Given the description of an element on the screen output the (x, y) to click on. 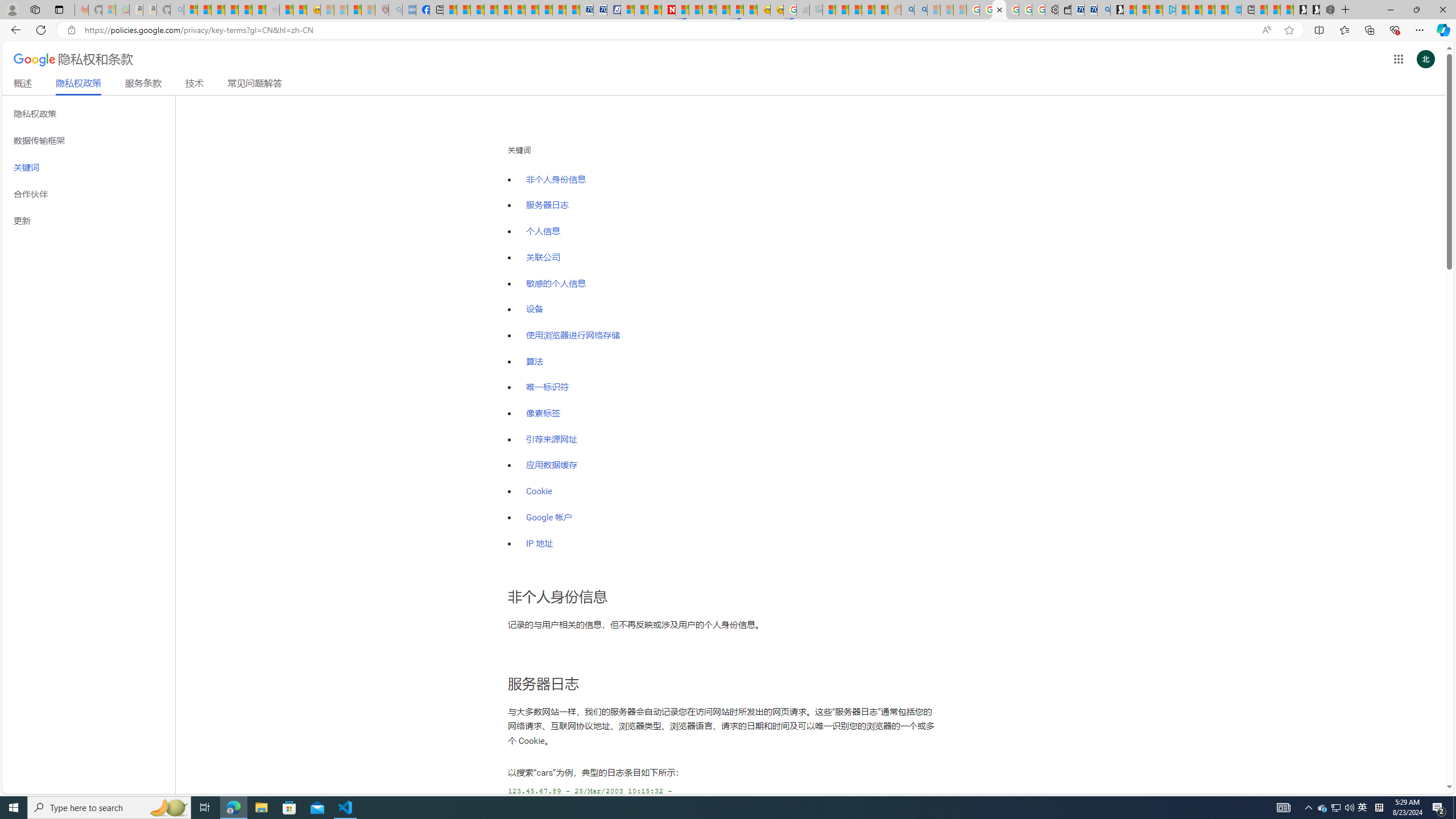
Cookie (539, 491)
